Given the description of an element on the screen output the (x, y) to click on. 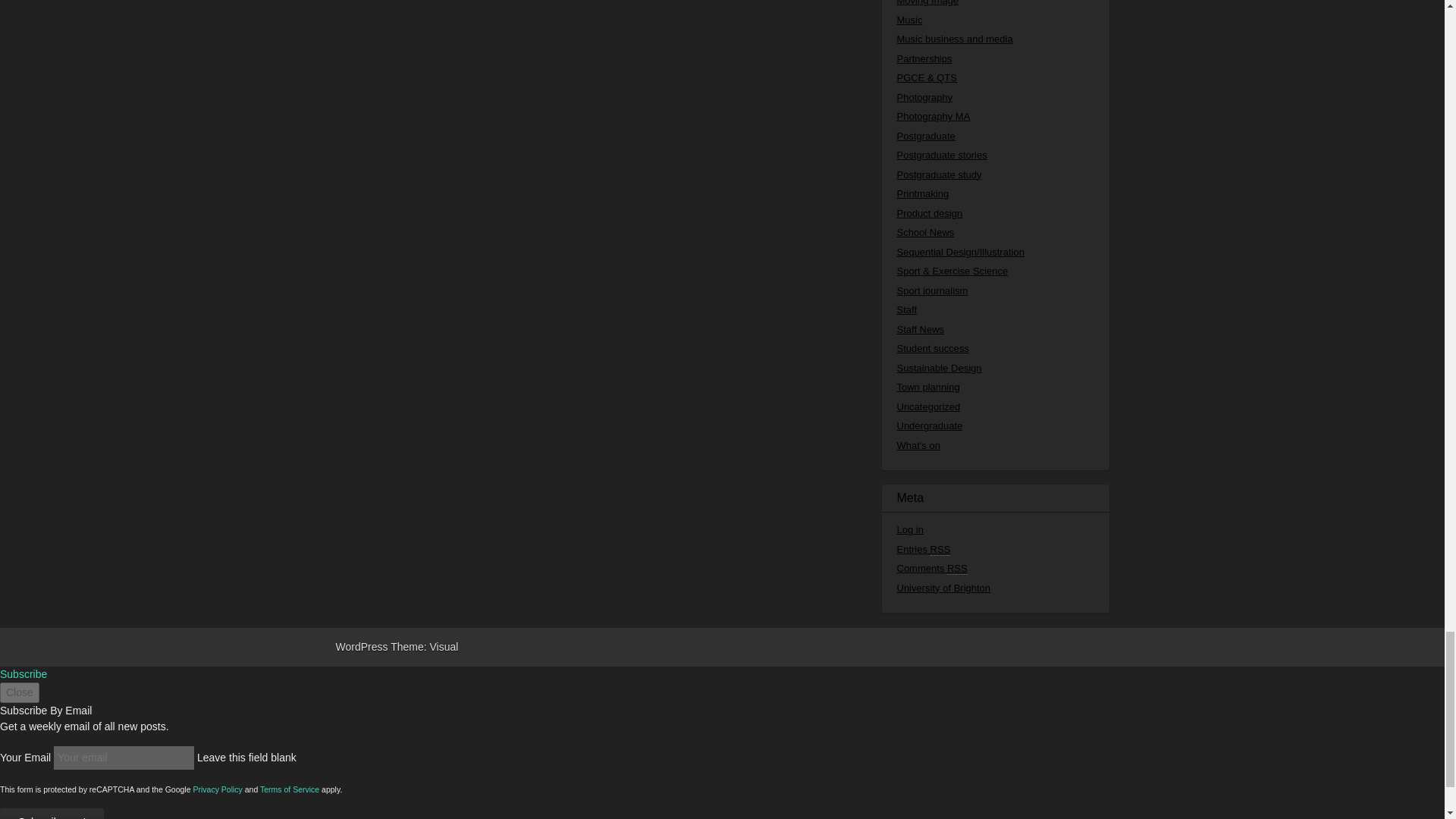
Subscribe me! (51, 813)
Syndicate this site using RSS 2.0 (923, 548)
The latest comments to all posts in RSS (931, 568)
A Semantic Personal Publishing Platform (360, 646)
Really Simple Syndication (957, 568)
Really Simple Syndication (940, 548)
Powered by University of Brighton (943, 587)
